Given the description of an element on the screen output the (x, y) to click on. 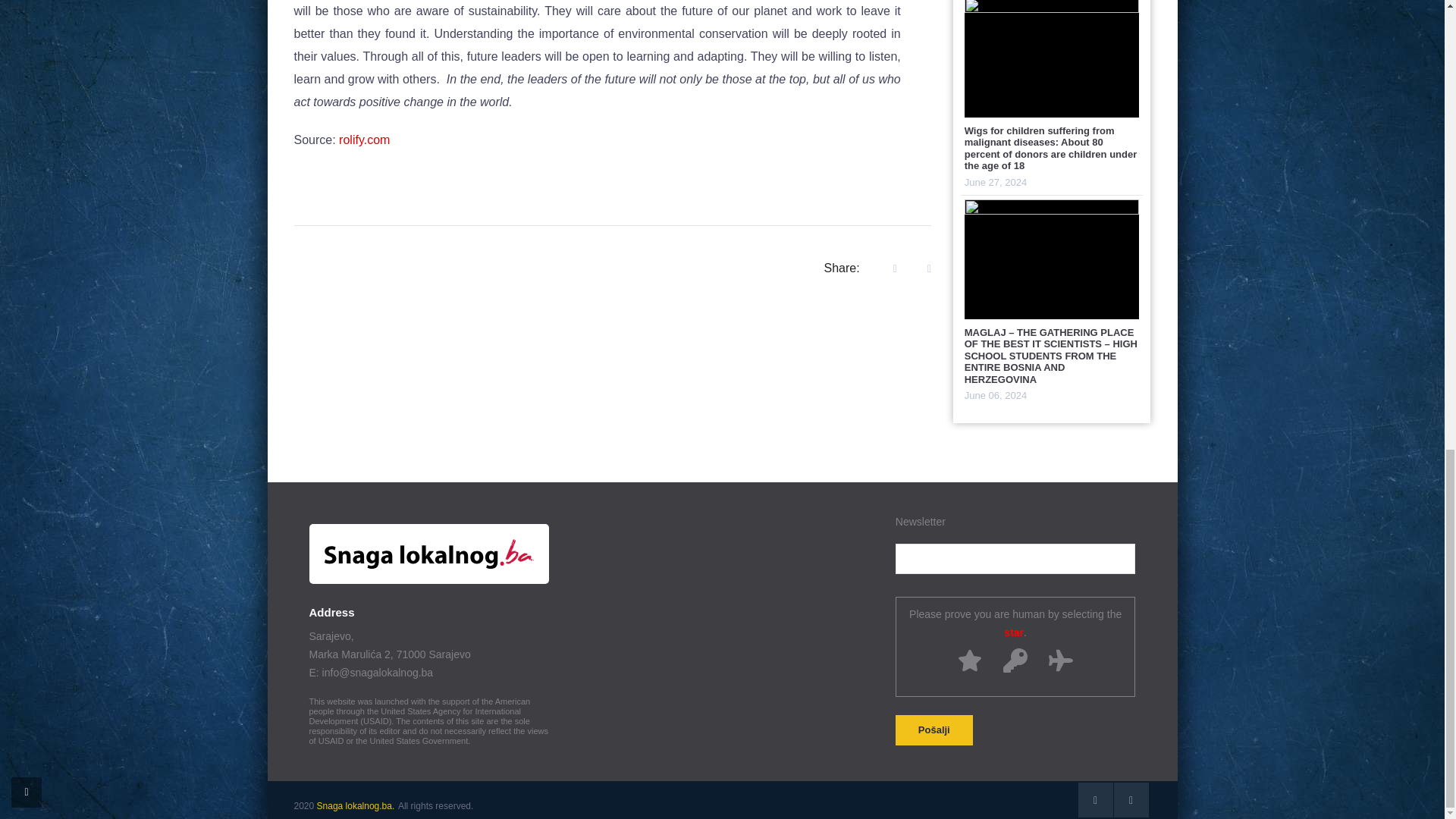
rolify.com (364, 139)
